Given the description of an element on the screen output the (x, y) to click on. 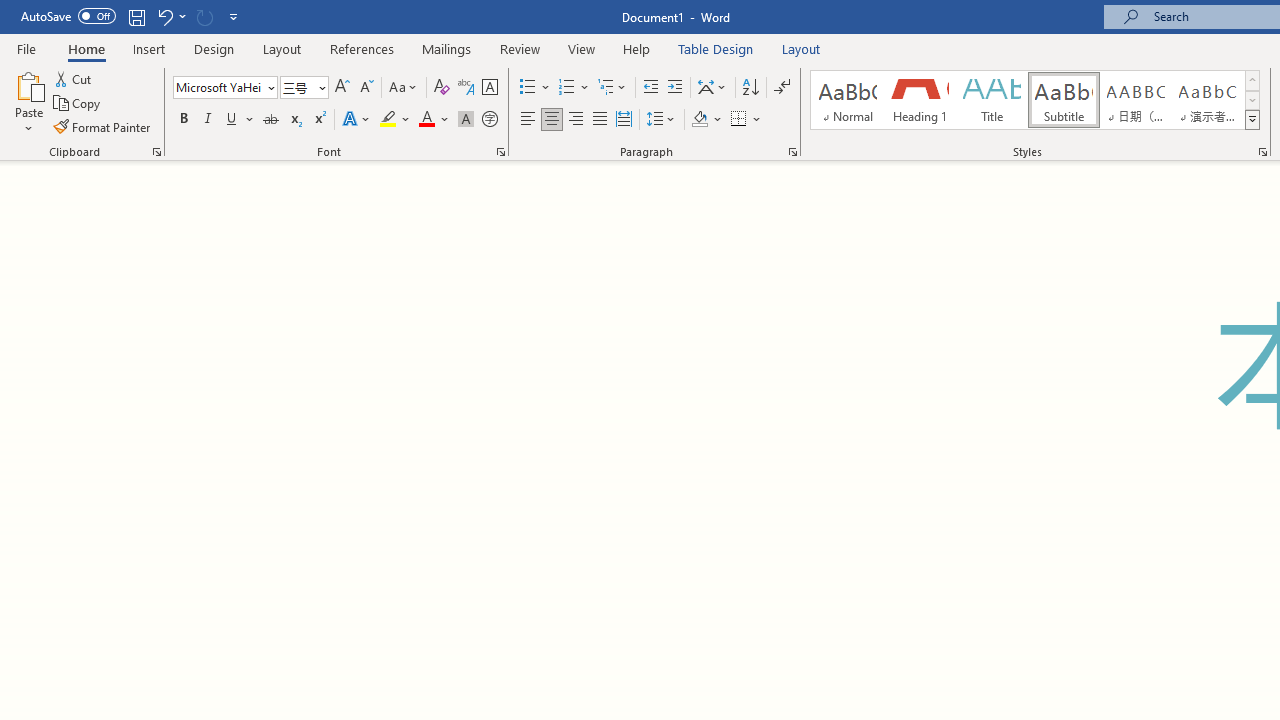
Shrink Font (365, 87)
Bullets (527, 87)
Office Clipboard... (156, 151)
Text Highlight Color Yellow (388, 119)
Bullets (535, 87)
Shading RGB(0, 0, 0) (699, 119)
AutoSave (68, 16)
Numbering (573, 87)
Styles... (1262, 151)
Font Size (297, 87)
Numbering (566, 87)
Center (552, 119)
